Given the description of an element on the screen output the (x, y) to click on. 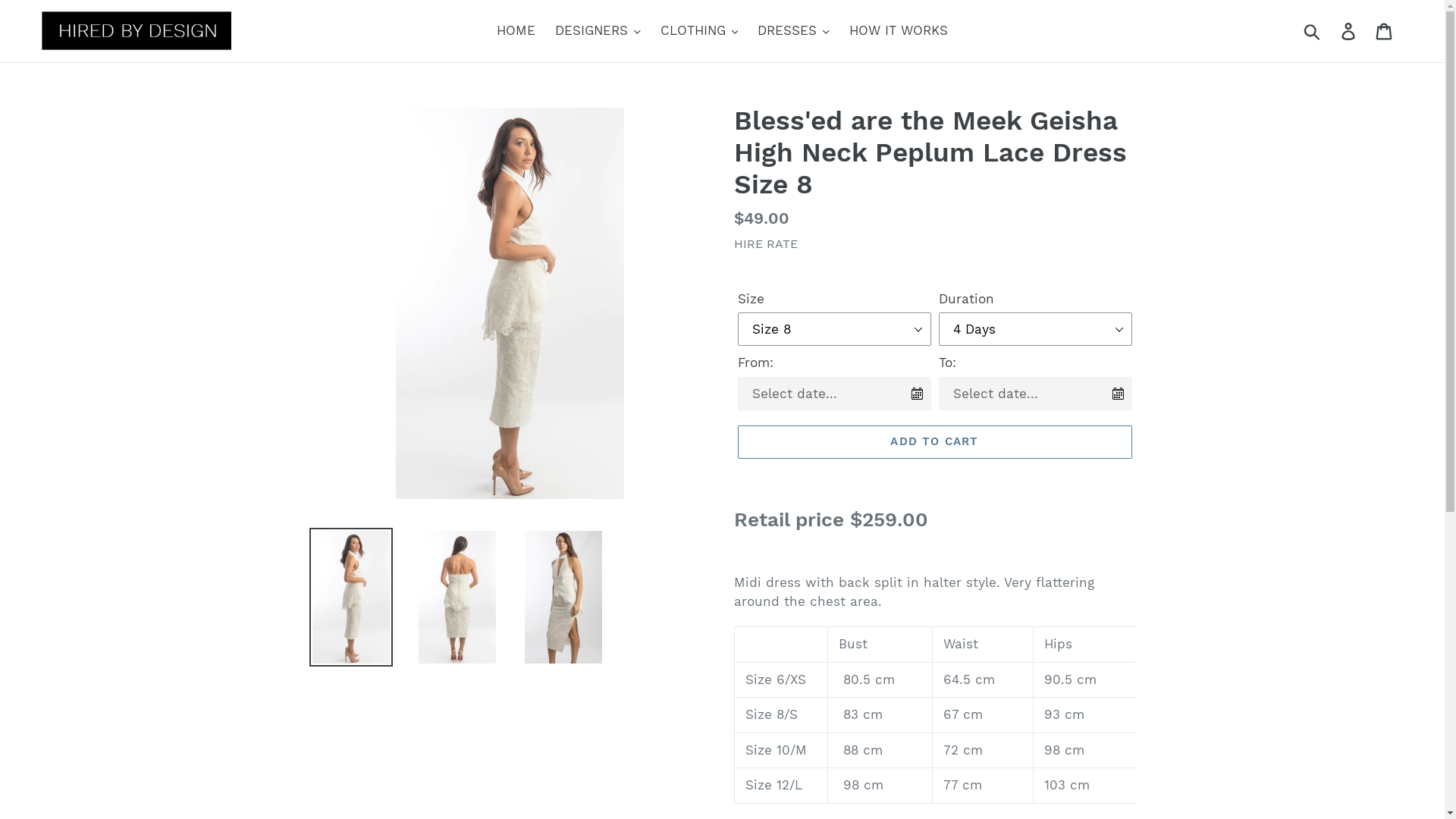
Submit Element type: text (1312, 30)
ADD TO CART Element type: text (934, 441)
Log in Element type: text (1349, 30)
Cart Element type: text (1384, 30)
HOME Element type: text (515, 30)
HOW IT WORKS Element type: text (898, 30)
